Given the description of an element on the screen output the (x, y) to click on. 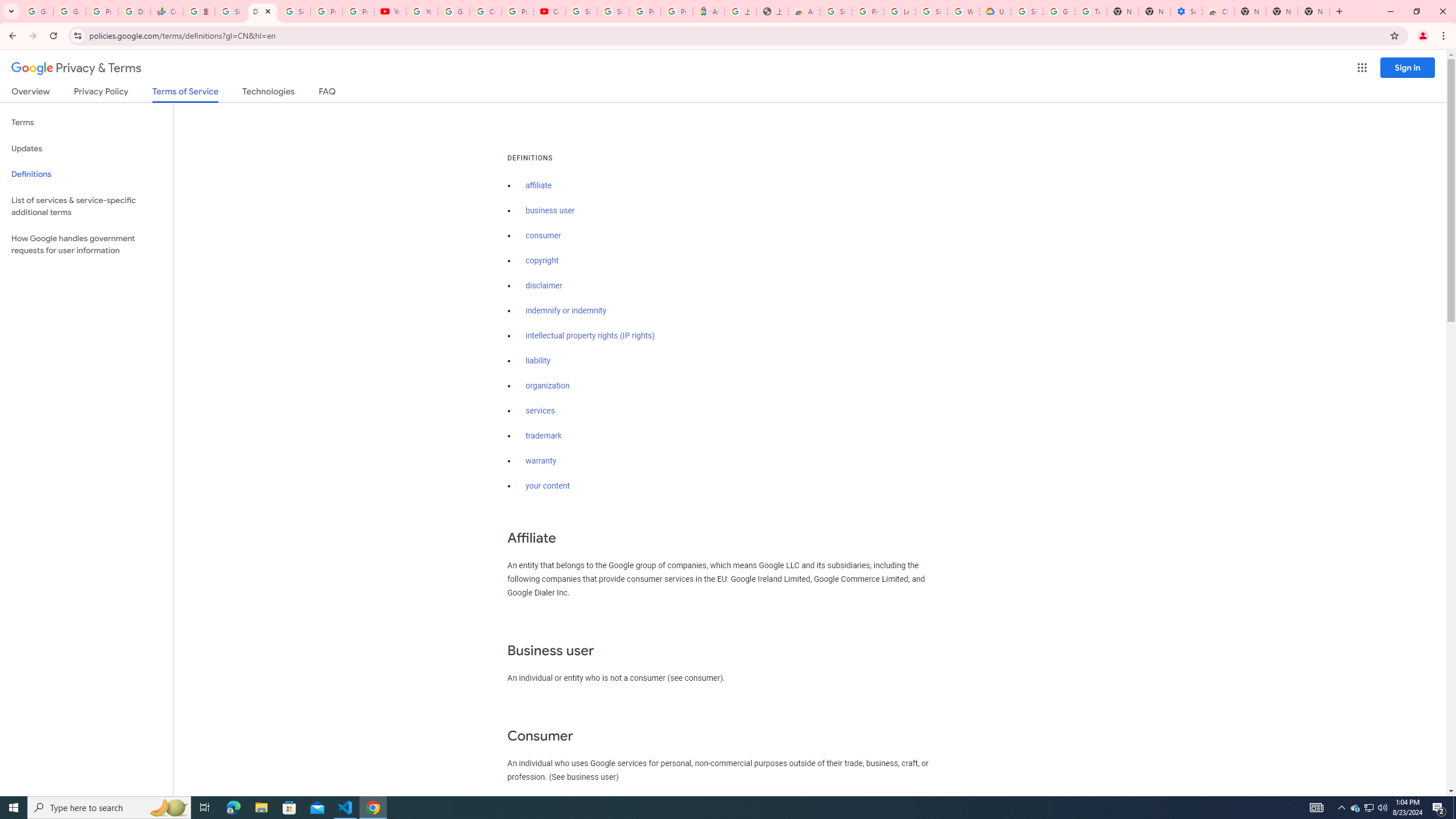
New Tab (1249, 11)
organization (547, 385)
trademark (543, 435)
Google Account Help (1059, 11)
